Given the description of an element on the screen output the (x, y) to click on. 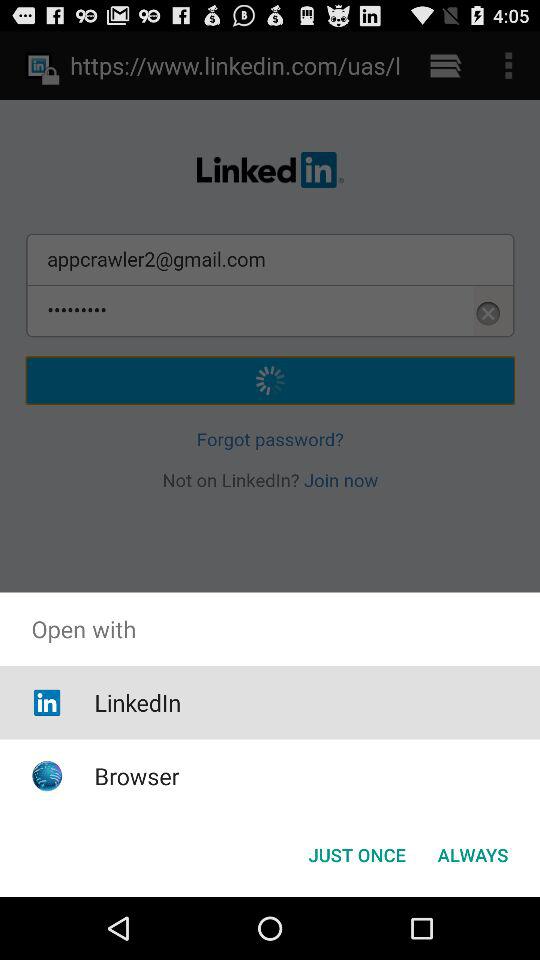
select the icon next to the always icon (356, 854)
